Given the description of an element on the screen output the (x, y) to click on. 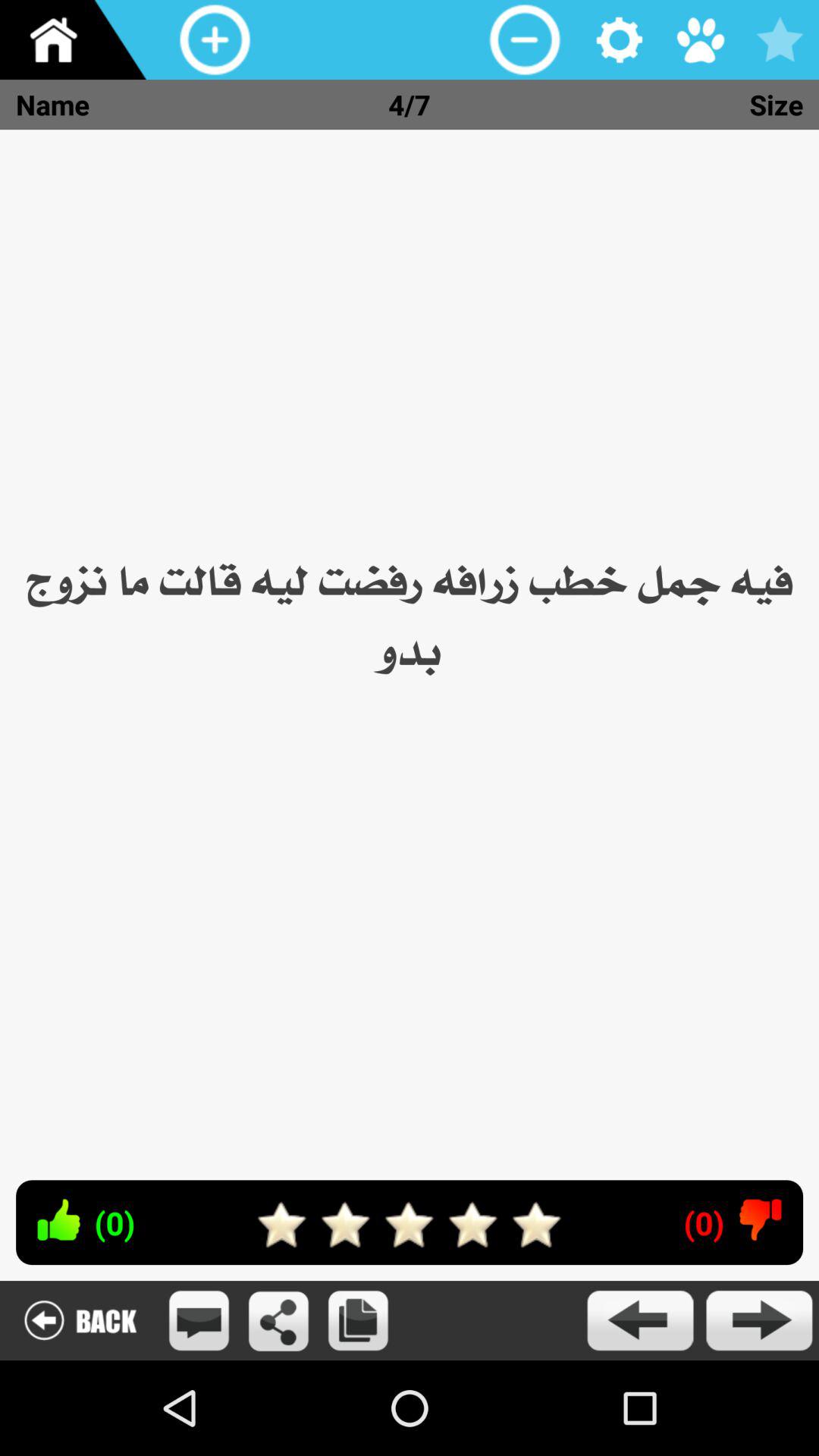
settings option (619, 39)
